Given the description of an element on the screen output the (x, y) to click on. 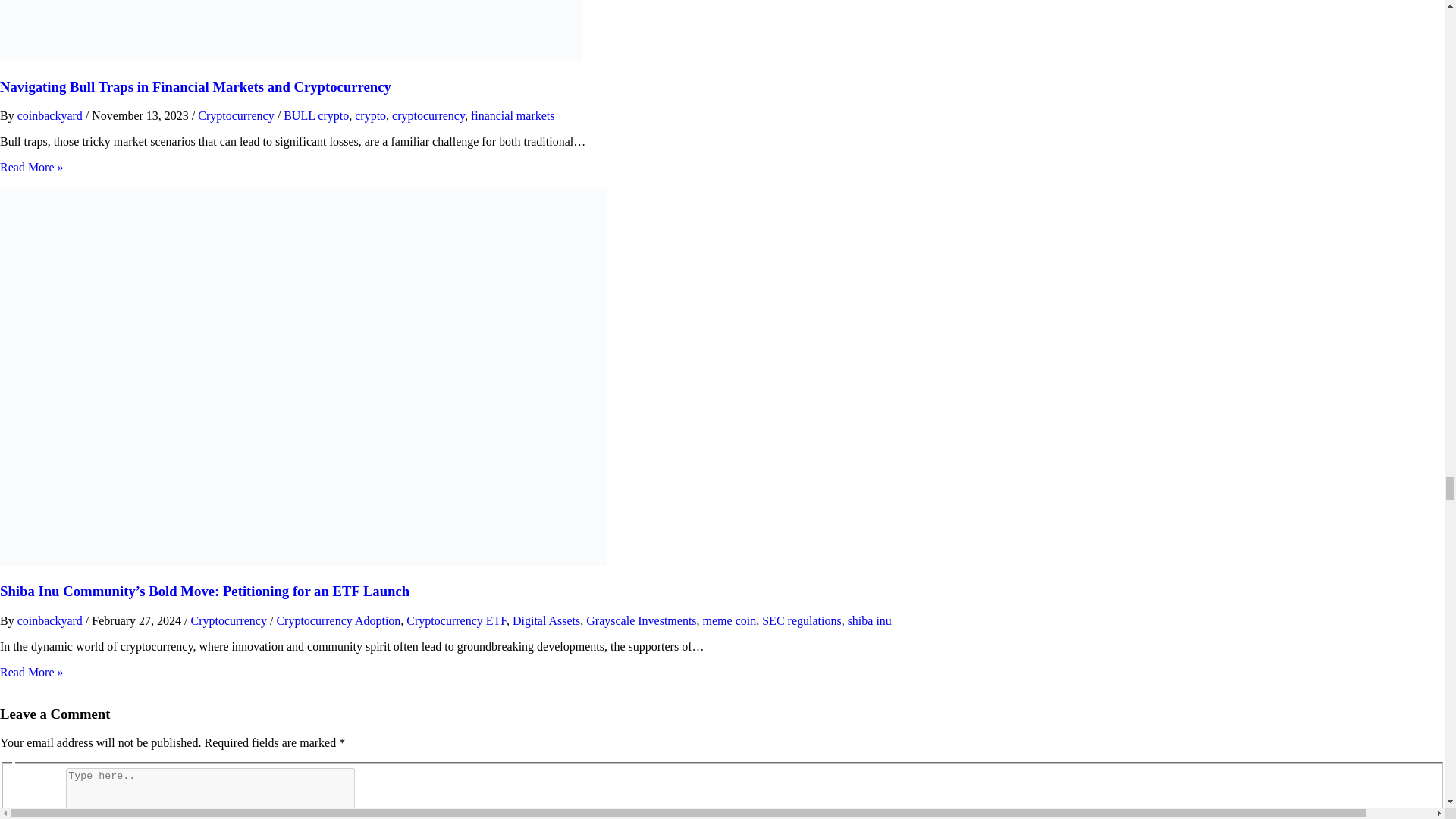
View all posts by coinbackyard (51, 620)
View all posts by coinbackyard (51, 115)
